Given the description of an element on the screen output the (x, y) to click on. 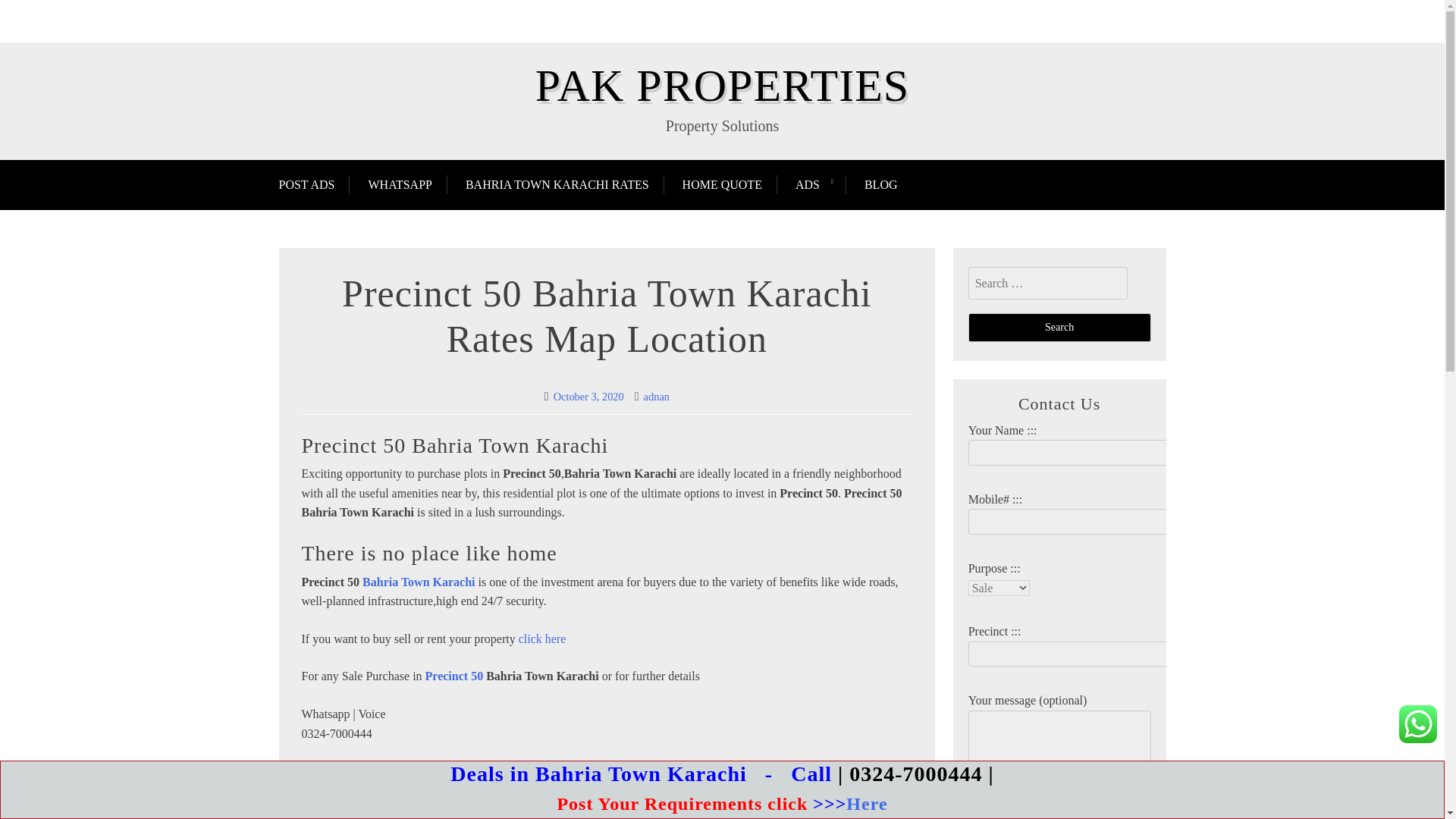
Click to share on Twitter (313, 803)
Click to share on Facebook (341, 803)
POST ADS (314, 184)
Bahria Town Karachi (418, 581)
Search (1059, 327)
ADS (807, 184)
Click to share on Tumblr (369, 803)
Click to share on Pinterest (425, 803)
HOME QUOTE (721, 184)
Precinct 50 (454, 675)
Click to share on Reddit (453, 803)
October 3, 2020 (588, 396)
BLOG (880, 184)
BAHRIA TOWN KARACHI RATES (556, 184)
WhatsApp Us (1418, 723)
